Given the description of an element on the screen output the (x, y) to click on. 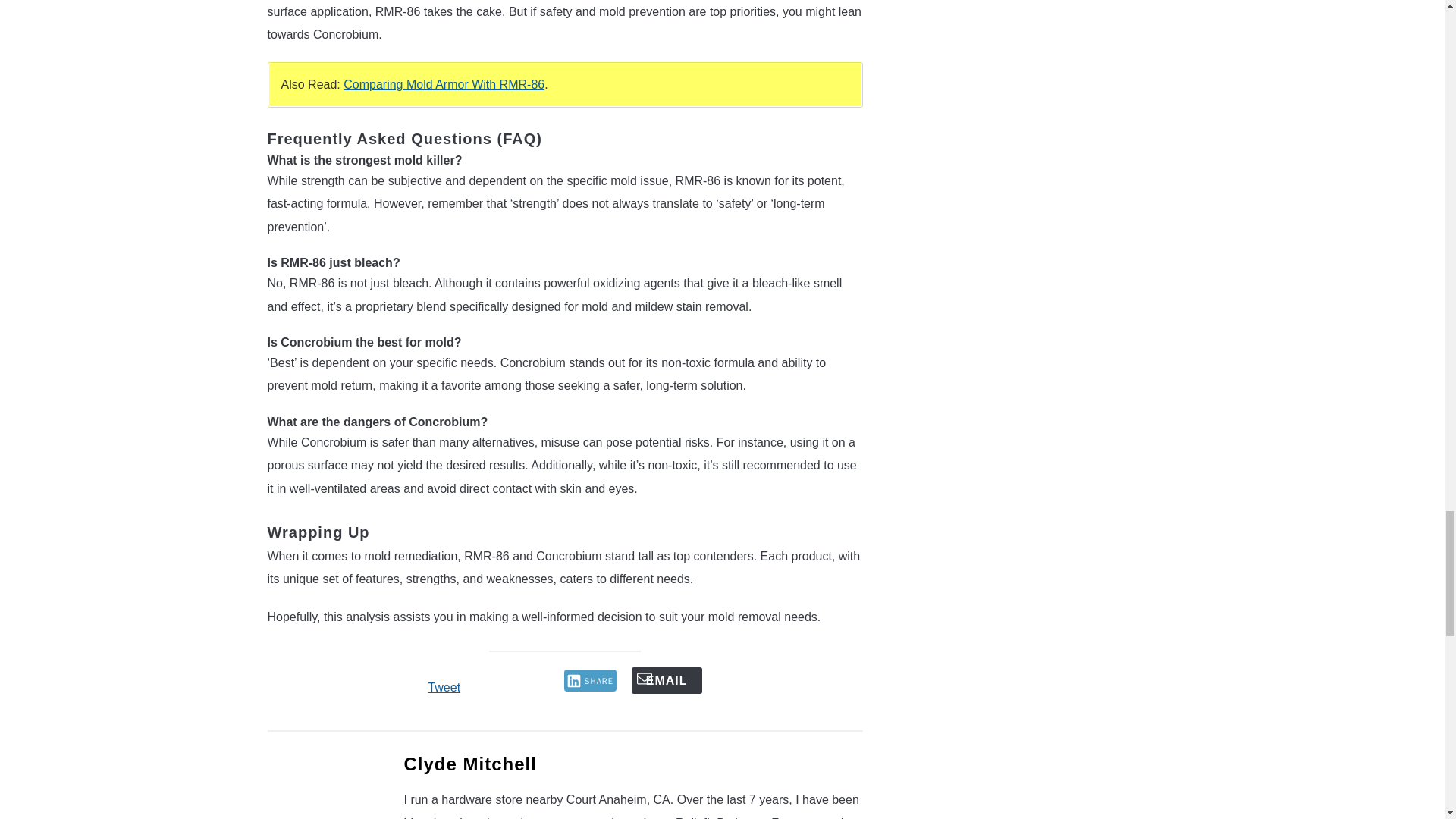
EMAIL (666, 680)
Clyde Mitchell (469, 763)
SHARE (589, 680)
Comparing Mold Armor With RMR-86 (443, 83)
Tweet (444, 686)
